Given the description of an element on the screen output the (x, y) to click on. 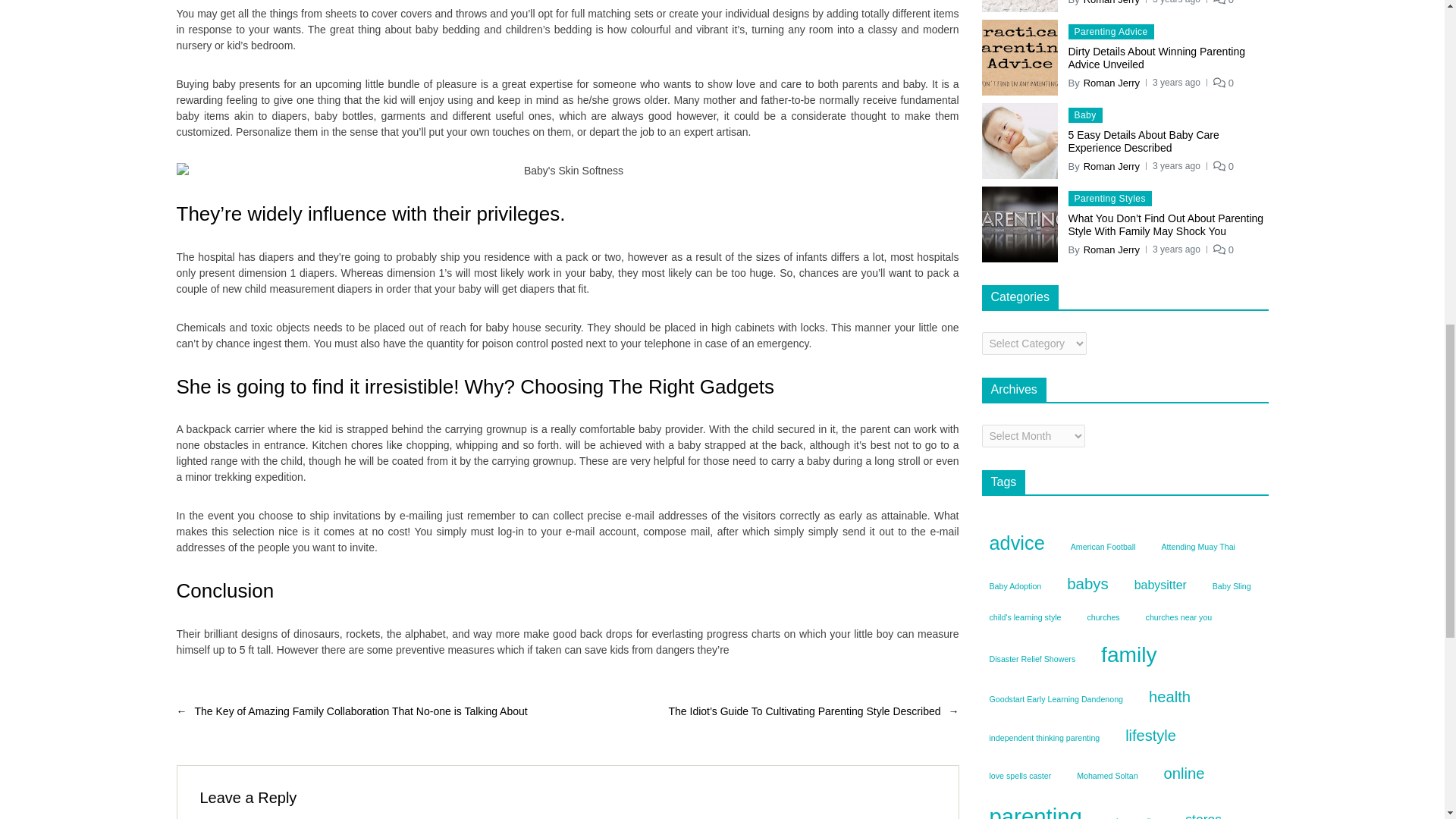
The Lower Down on Baby Birth Portrait Exposed (567, 170)
